Given the description of an element on the screen output the (x, y) to click on. 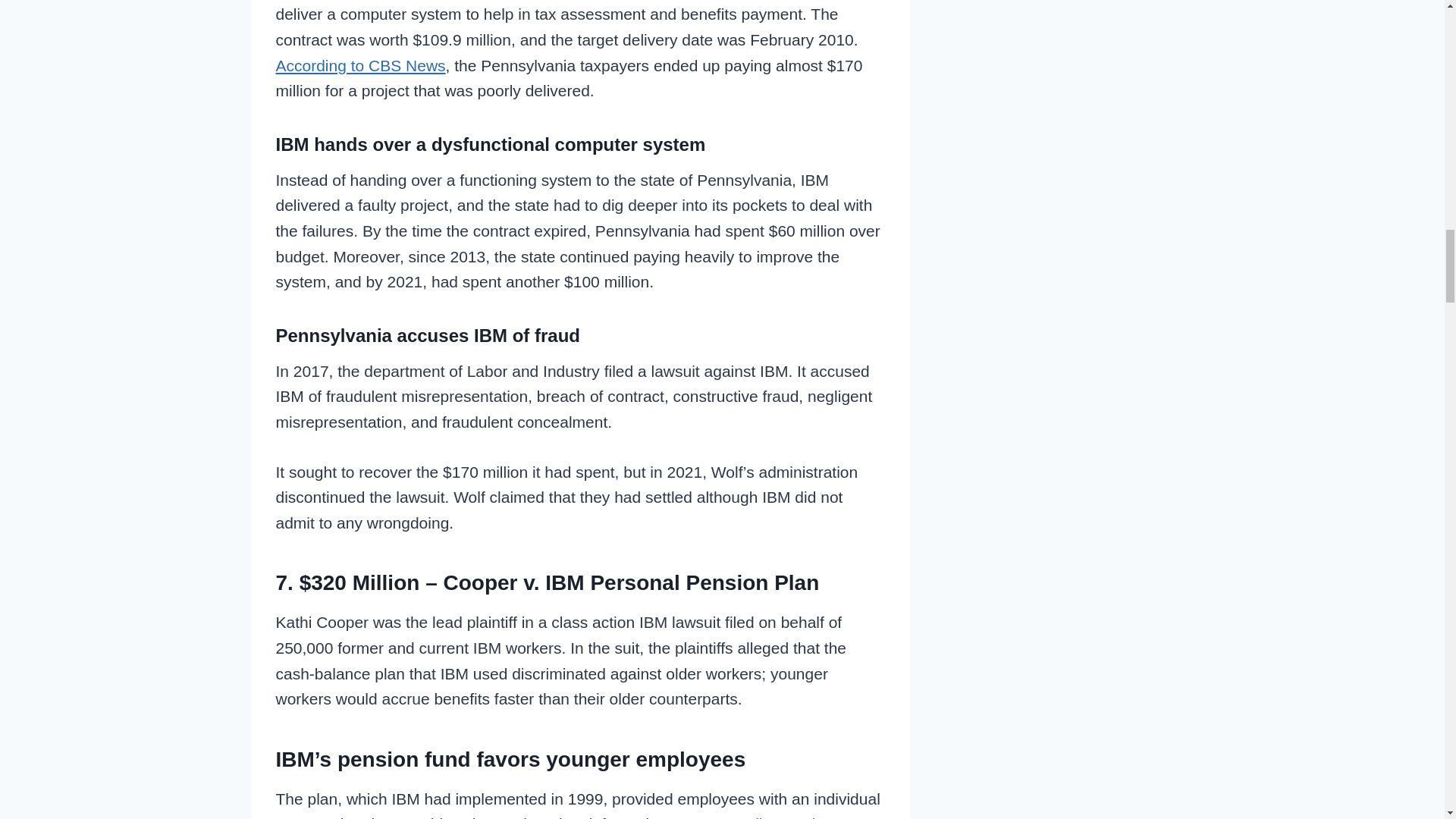
According to CBS News (360, 65)
